Given the description of an element on the screen output the (x, y) to click on. 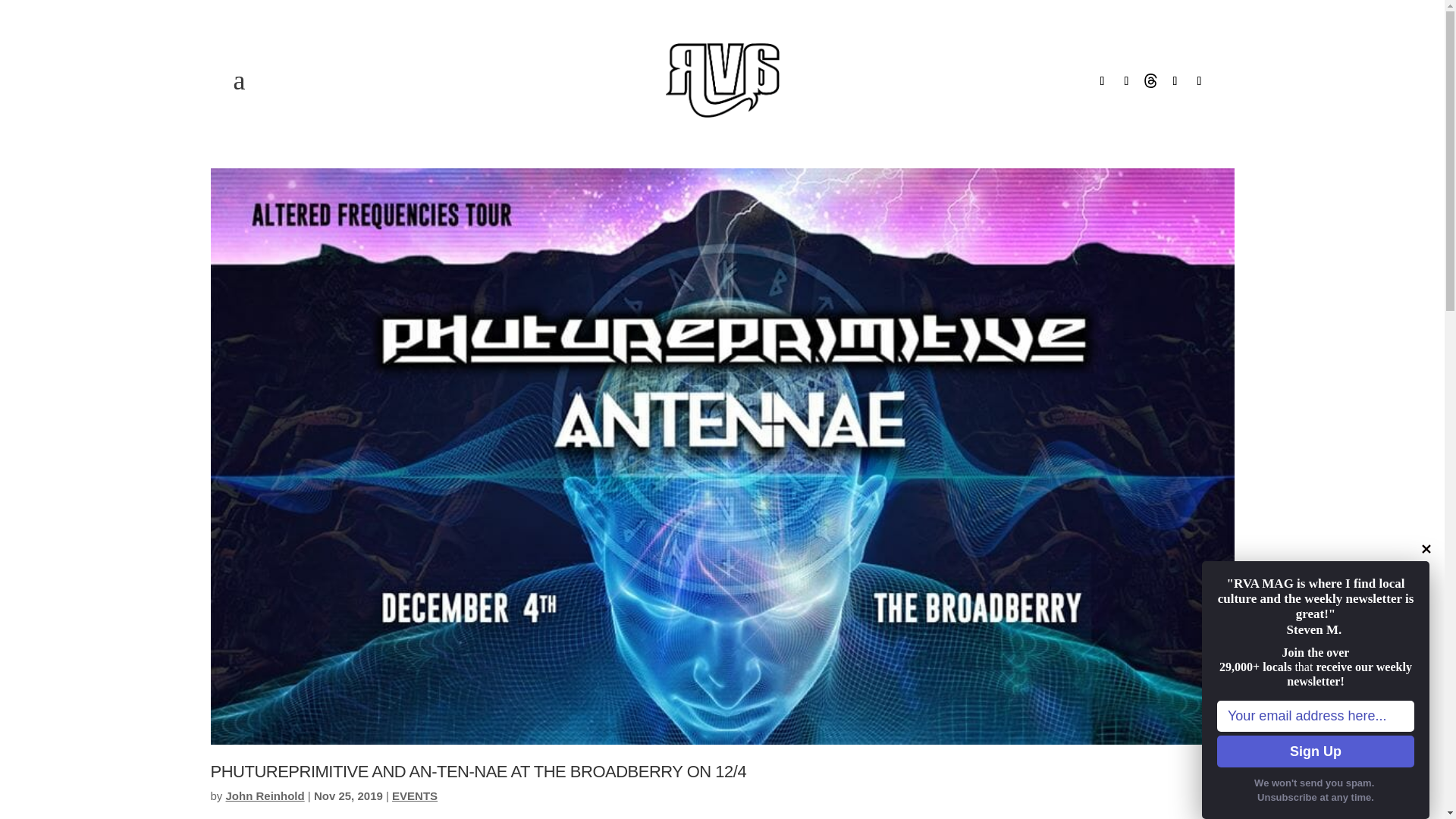
RVA-Mag-Logo-01 (721, 80)
Follow on Facebook (1102, 80)
Posts by John Reinhold (264, 795)
Follow on TikTok (1175, 80)
Search (24, 13)
Follow on Youtube (1199, 80)
Follow on Instagram (1126, 80)
Follow on Houzz (1150, 80)
